Given the description of an element on the screen output the (x, y) to click on. 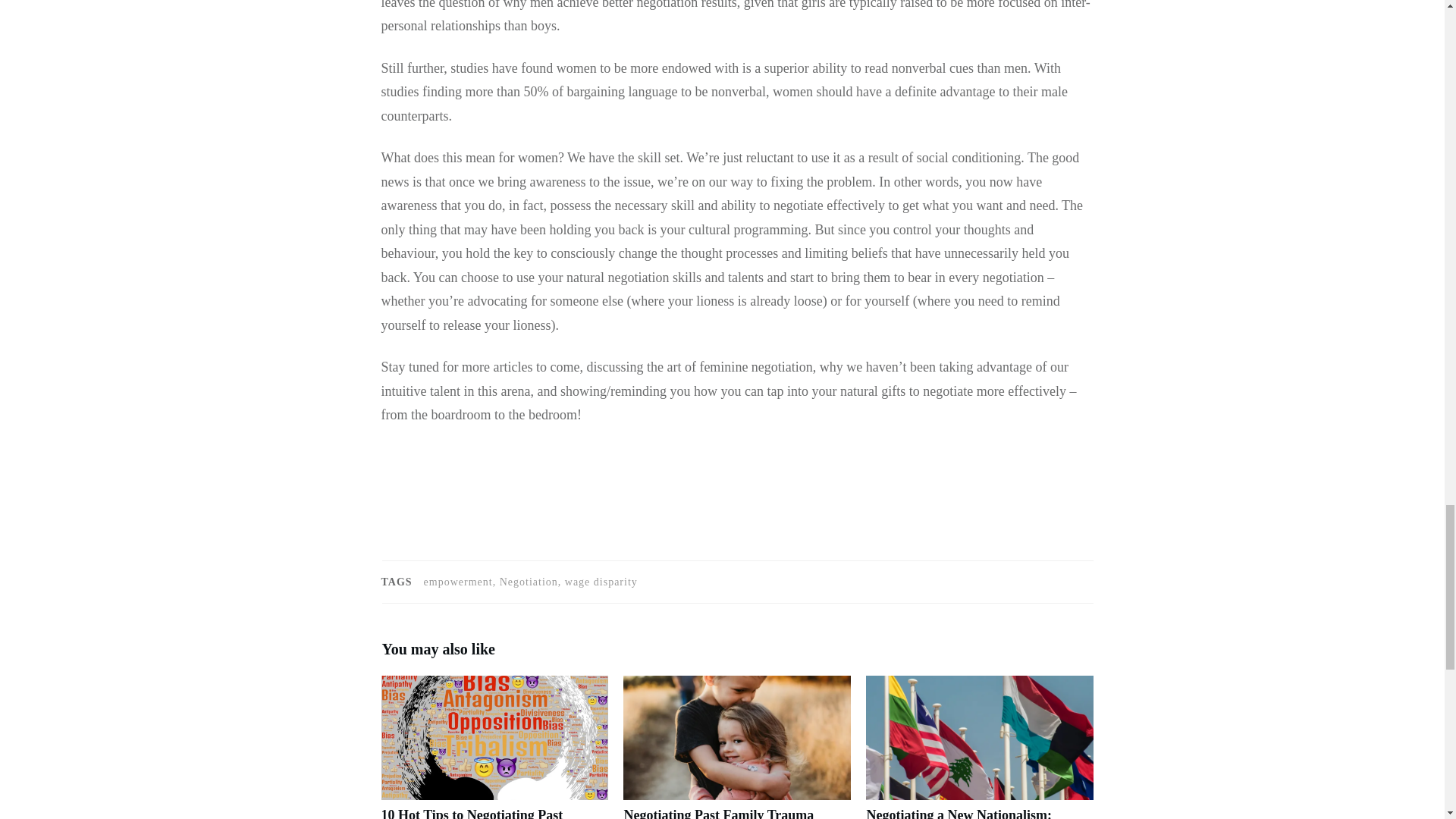
Do Men and Women Negotiate Differently (418, 491)
Negotiating Past Family Trauma (718, 813)
